Given the description of an element on the screen output the (x, y) to click on. 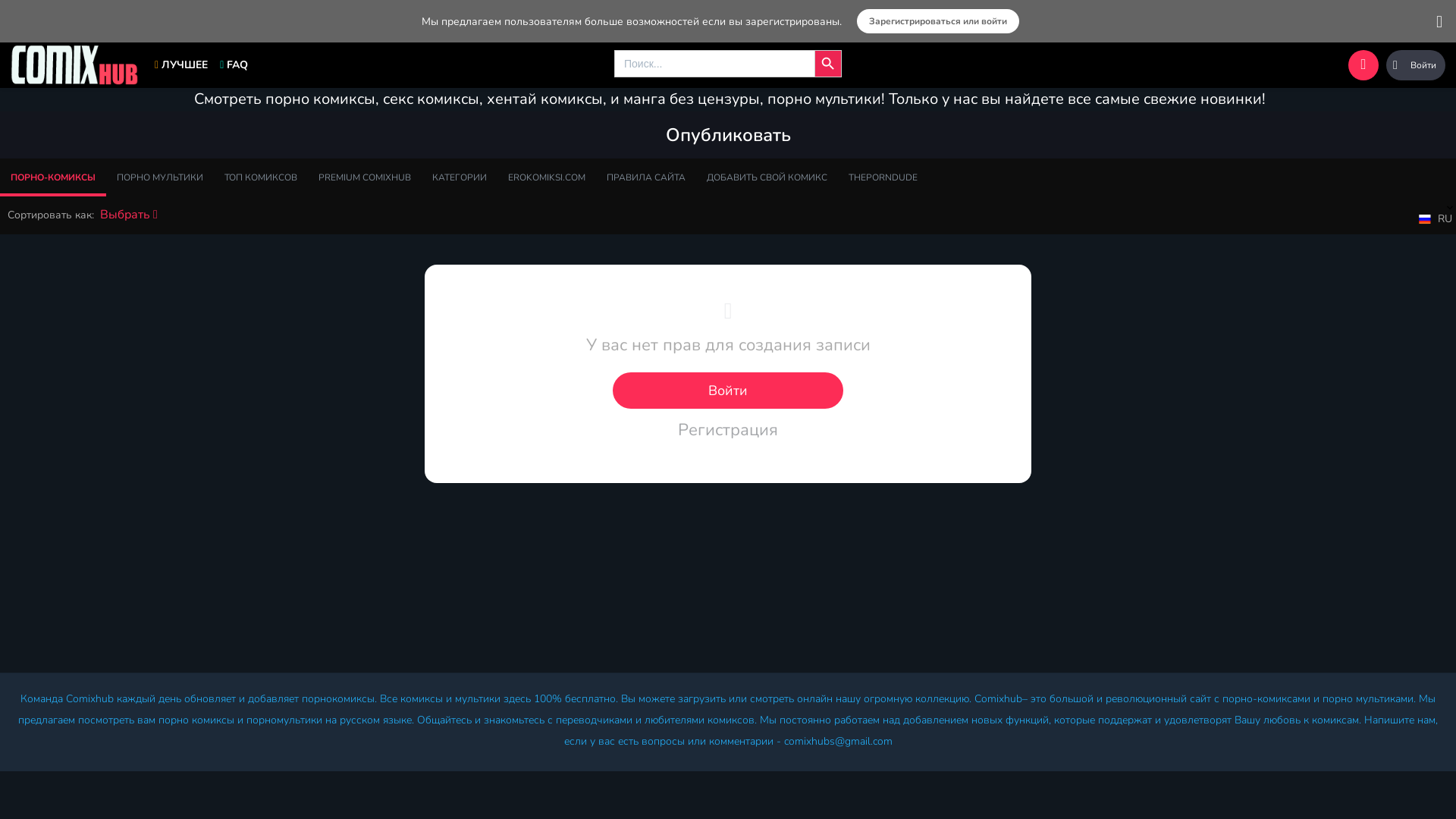
EROKOMIKSI.COM Element type: text (546, 177)
THEPORNDUDE Element type: text (882, 177)
FAQ Element type: text (233, 65)
PREMIUM COMIXHUB Element type: text (364, 177)
Search Button Element type: text (827, 63)
